Given the description of an element on the screen output the (x, y) to click on. 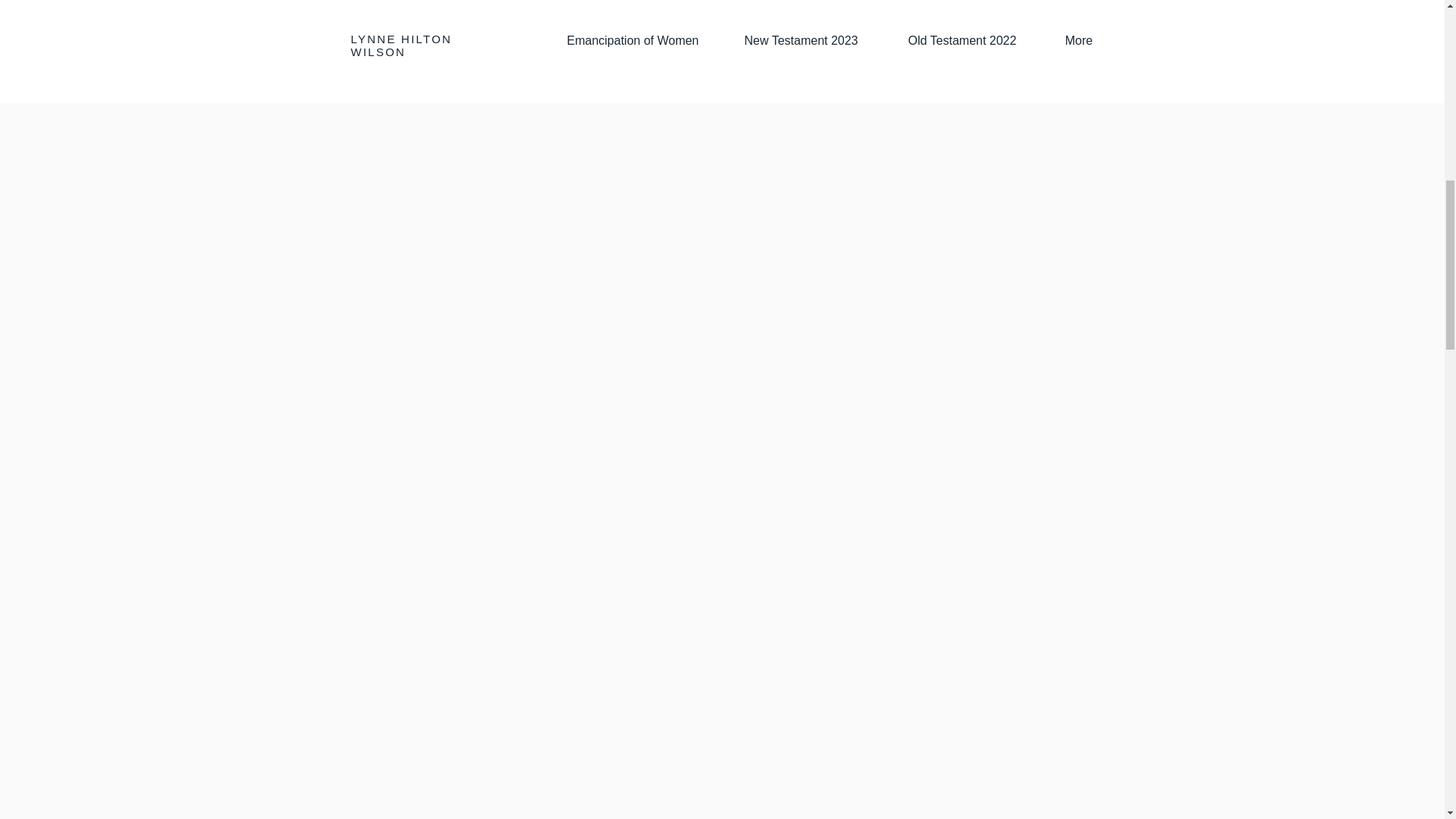
Back to Institute (419, 64)
Subscribe Now (922, 48)
